Given the description of an element on the screen output the (x, y) to click on. 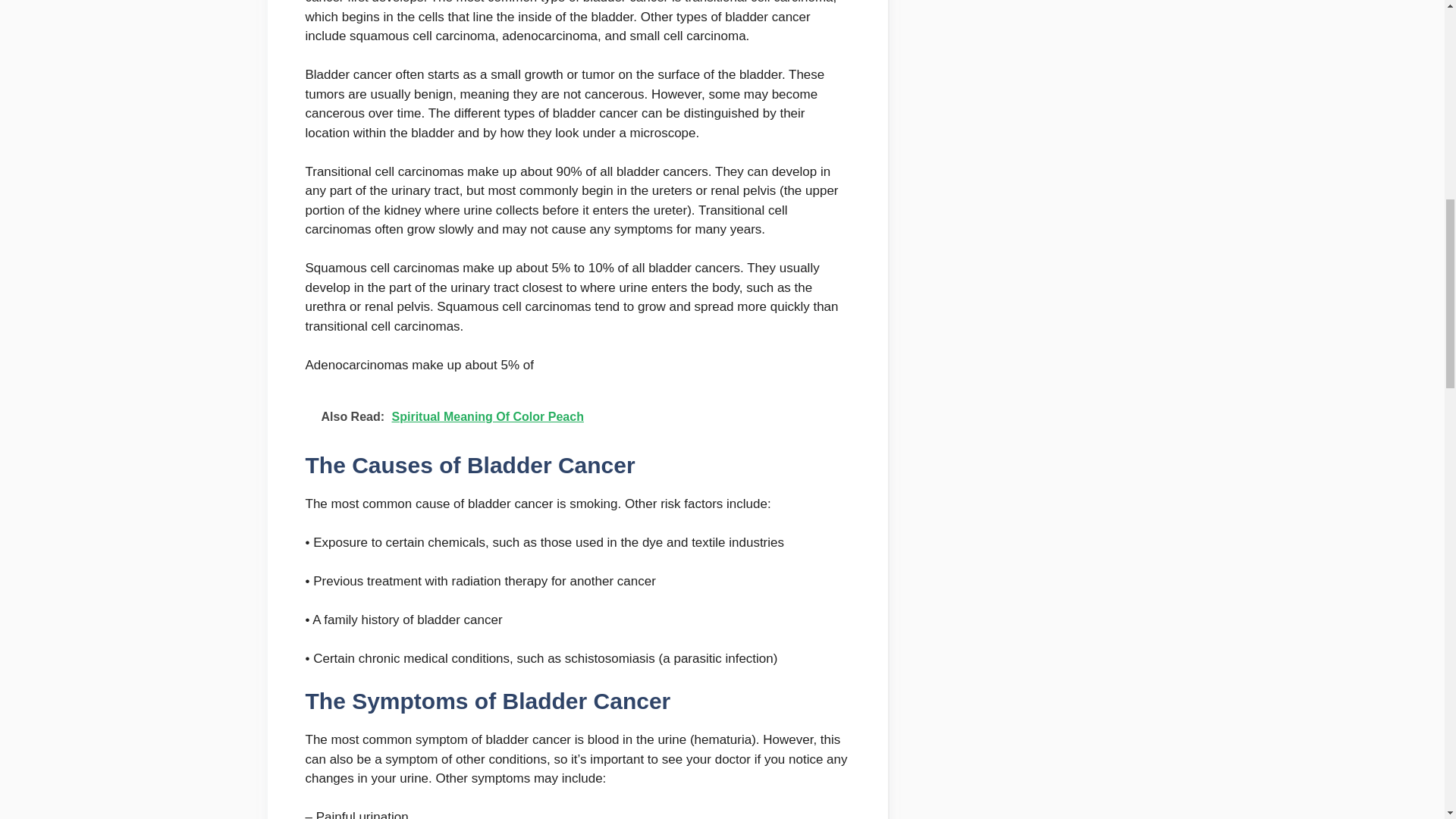
Also Read:  Spiritual Meaning Of Color Peach (576, 416)
